Given the description of an element on the screen output the (x, y) to click on. 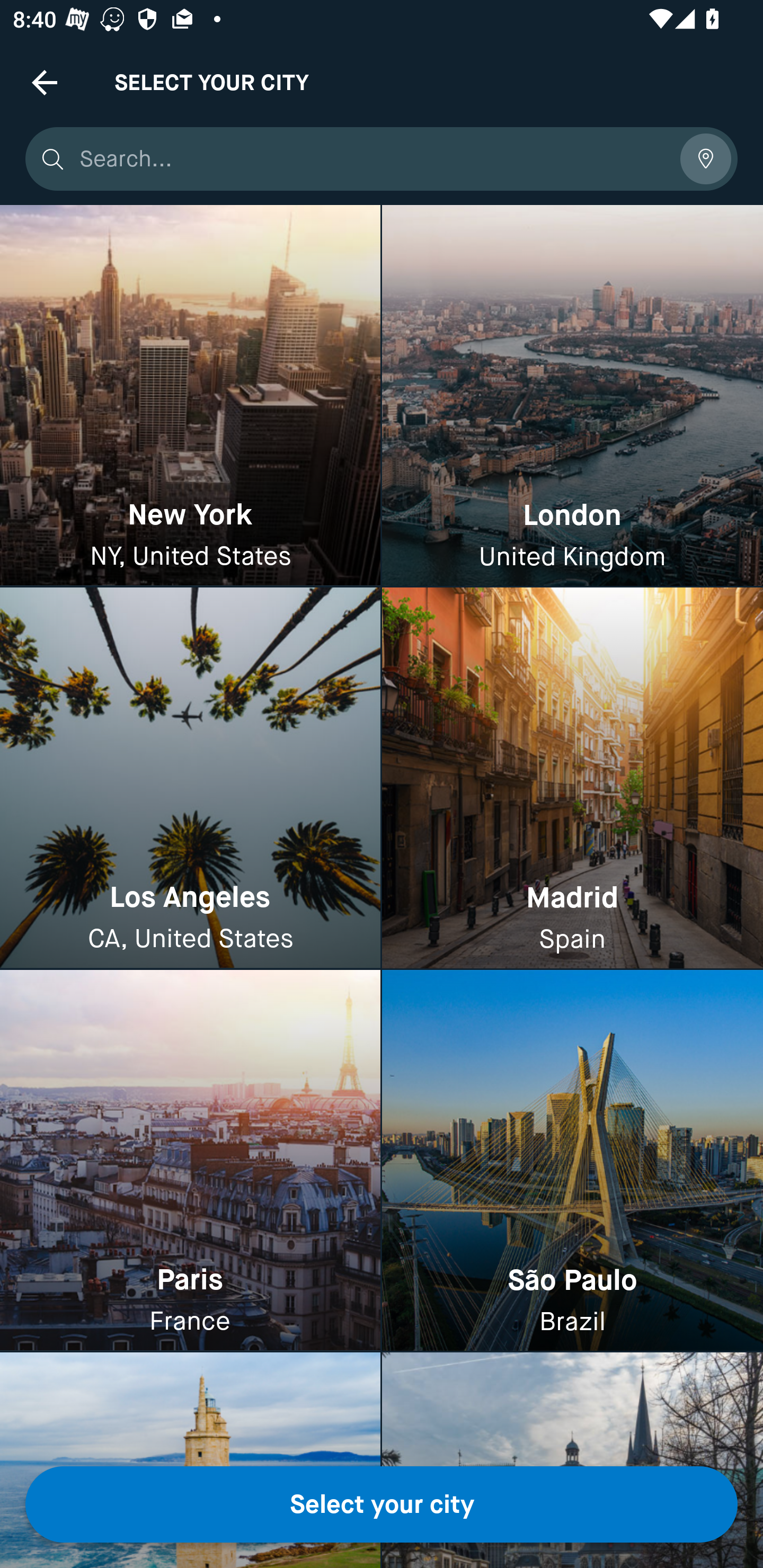
Navigate up (44, 82)
Search... (373, 159)
New York NY, United States (190, 395)
London United Kingdom (572, 395)
Los Angeles CA, United States (190, 778)
Madrid Spain (572, 778)
Paris France (190, 1160)
São Paulo Brazil (572, 1160)
Select your city (381, 1504)
